Given the description of an element on the screen output the (x, y) to click on. 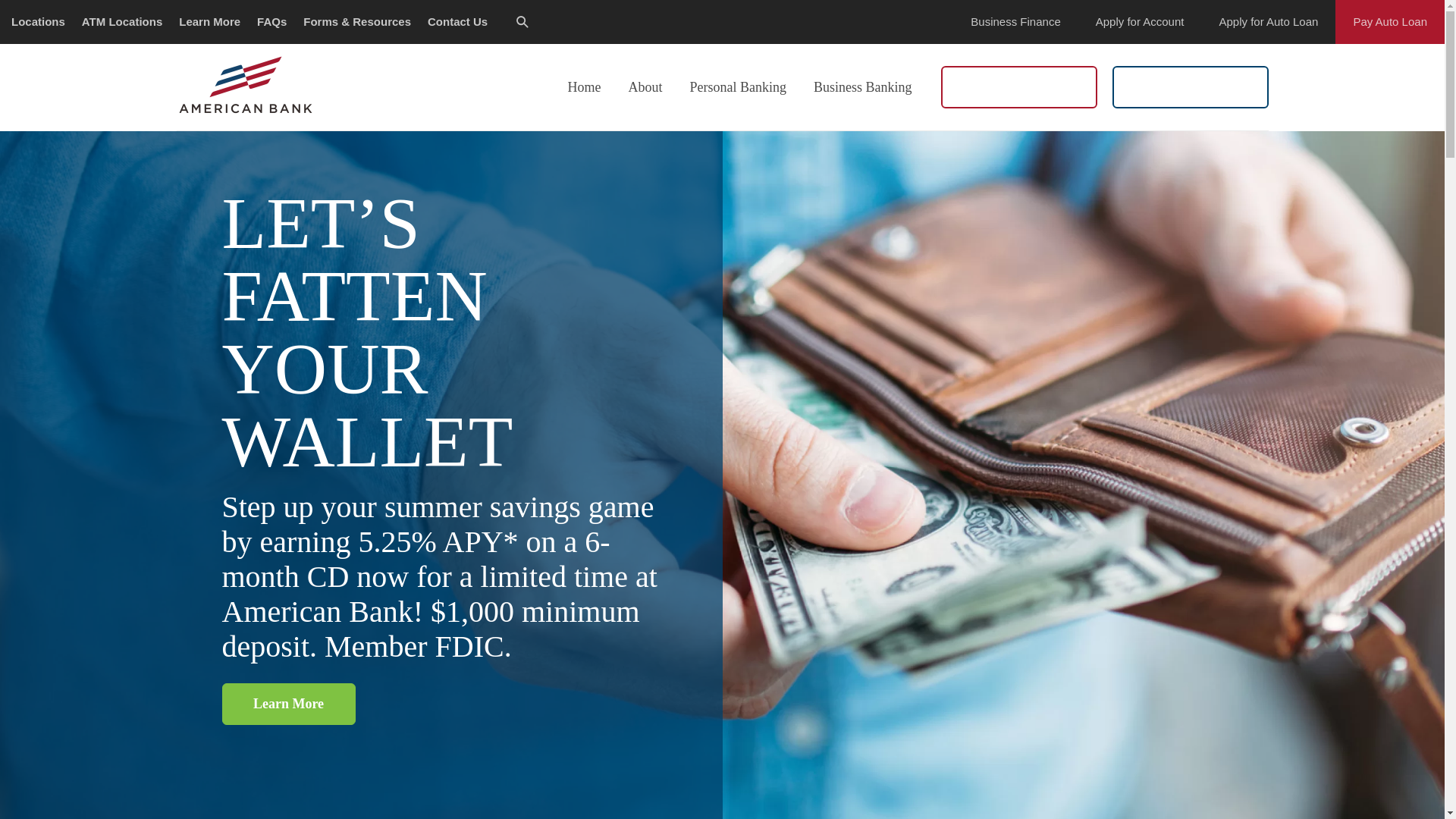
Learn More (209, 22)
Personal Banking (737, 87)
Apply for Auto Loan (1268, 22)
ATM Locations (121, 22)
Apply for Account (1140, 22)
Locations (38, 22)
Contact Us (457, 22)
Business Finance (1015, 22)
Business Banking (862, 87)
